Given the description of an element on the screen output the (x, y) to click on. 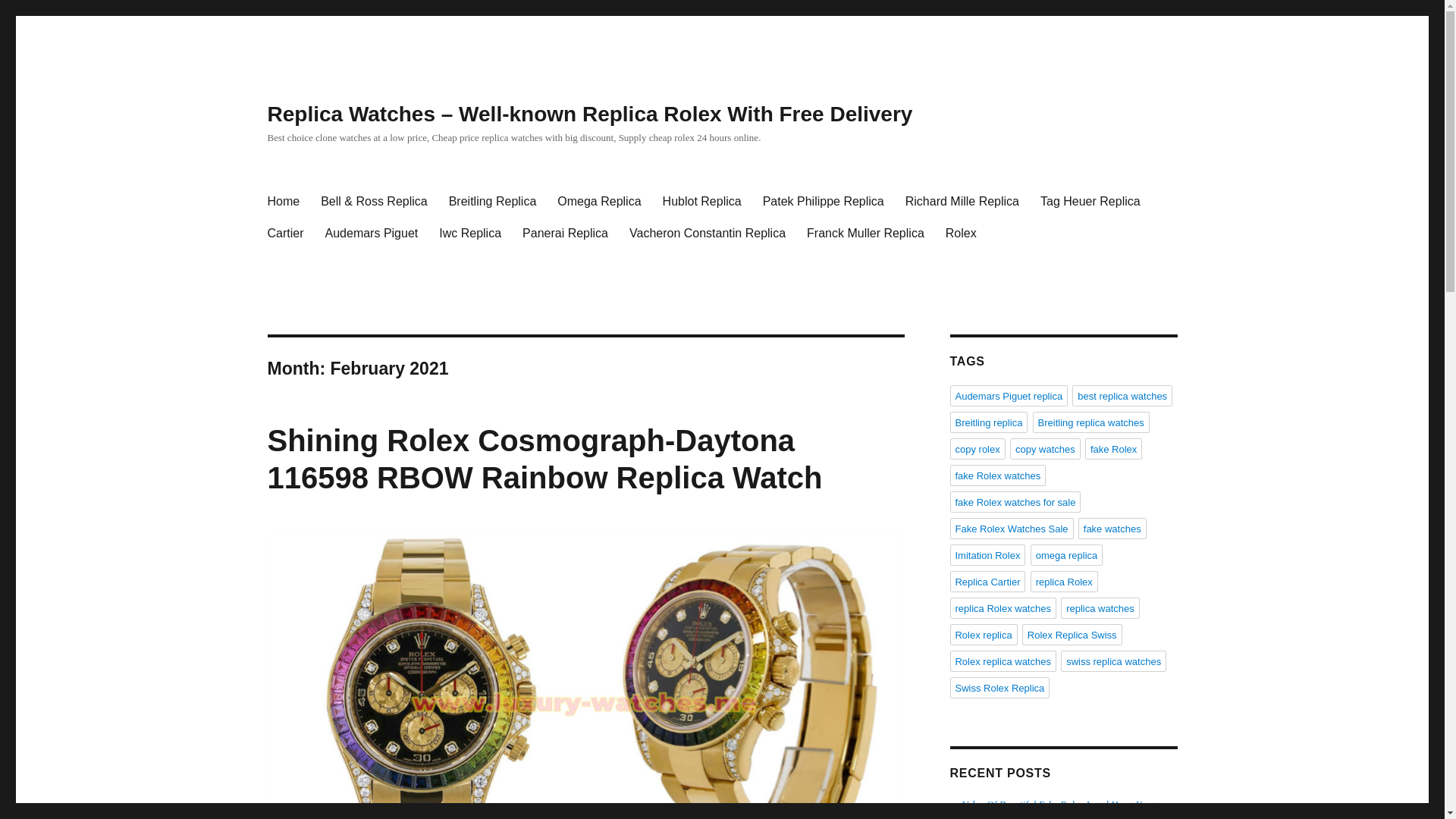
Breitling replica (988, 422)
Audemars Piguet (371, 233)
copy rolex (976, 448)
Omega Replica (598, 201)
Fake Rolex Watches Sale (1011, 527)
Breitling replica watches (1091, 422)
fake Rolex (1112, 448)
Richard Mille Replica (962, 201)
Tag Heuer Replica (1090, 201)
Iwc Replica (470, 233)
Breitling Replica (492, 201)
Cartier (285, 233)
Rolex (960, 233)
Replica Cartier (987, 581)
